Given the description of an element on the screen output the (x, y) to click on. 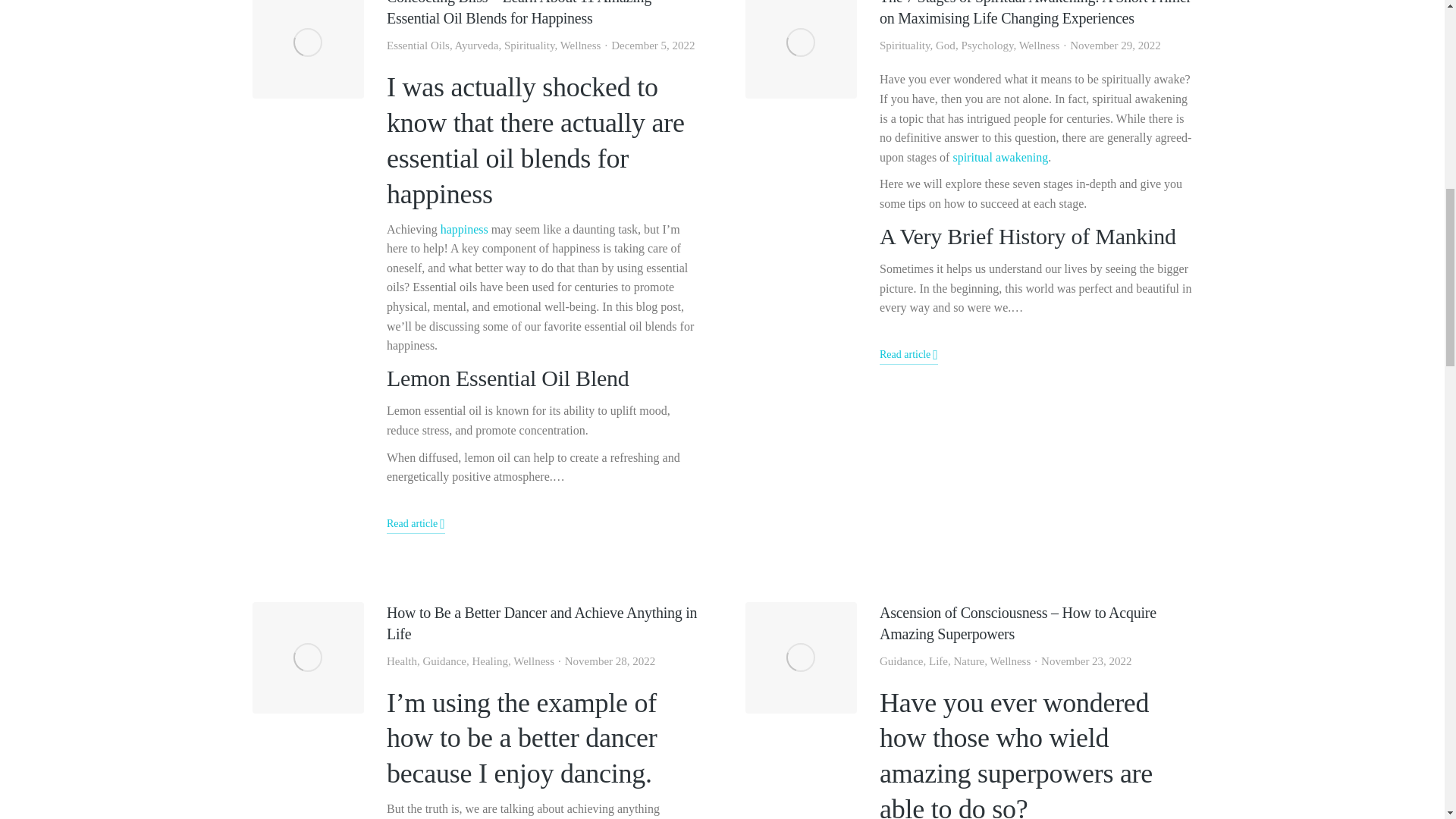
Ayurveda (476, 45)
How to Be a Better Dancer and Achieve Anything in Life (543, 622)
Essential Oils (418, 45)
Spirituality (528, 45)
